Given the description of an element on the screen output the (x, y) to click on. 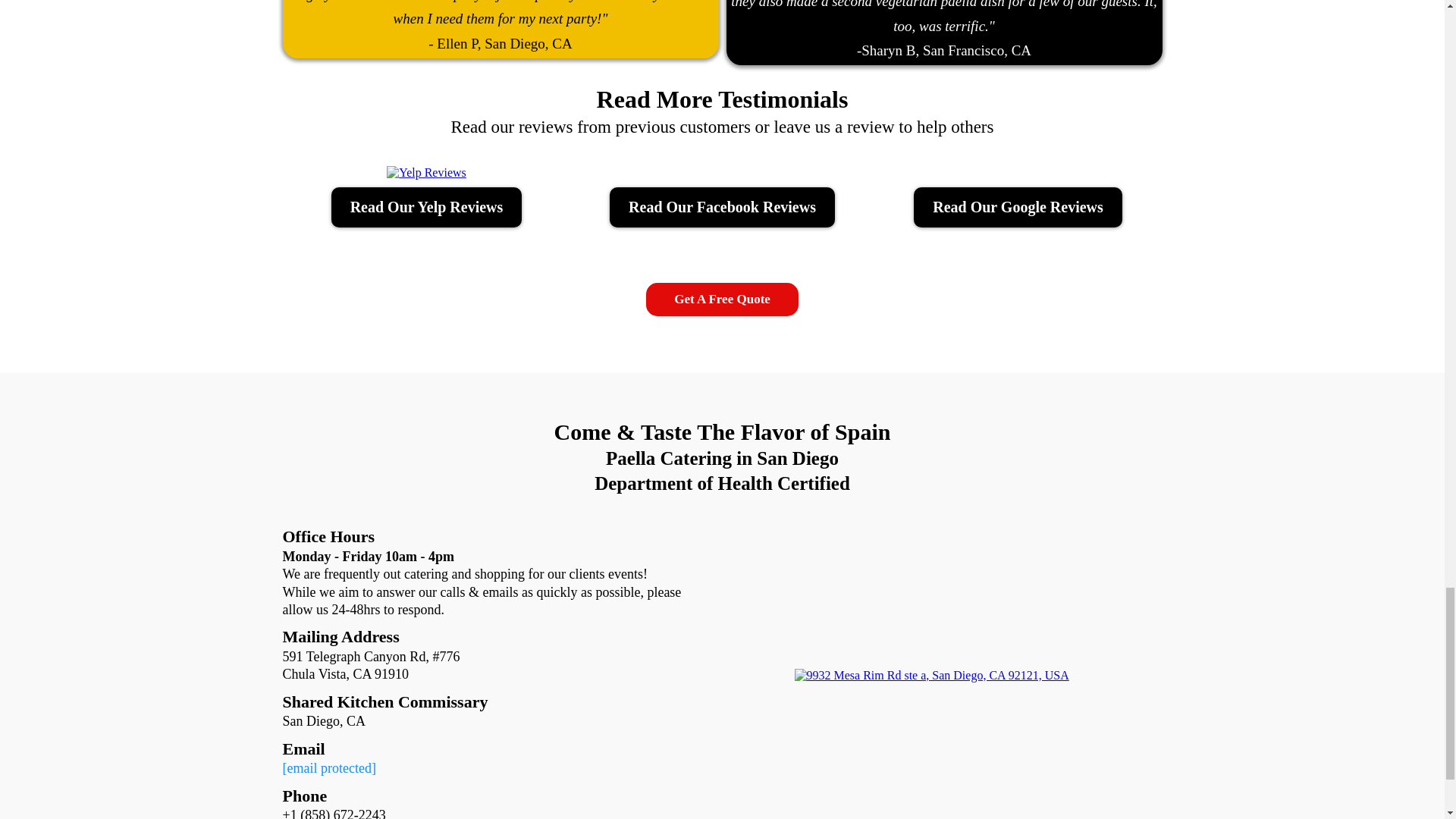
Read Our Yelp Reviews (426, 207)
Get A Free Quote (721, 299)
Read Our Google Reviews (1018, 207)
Read Our Facebook Reviews (722, 207)
